Given the description of an element on the screen output the (x, y) to click on. 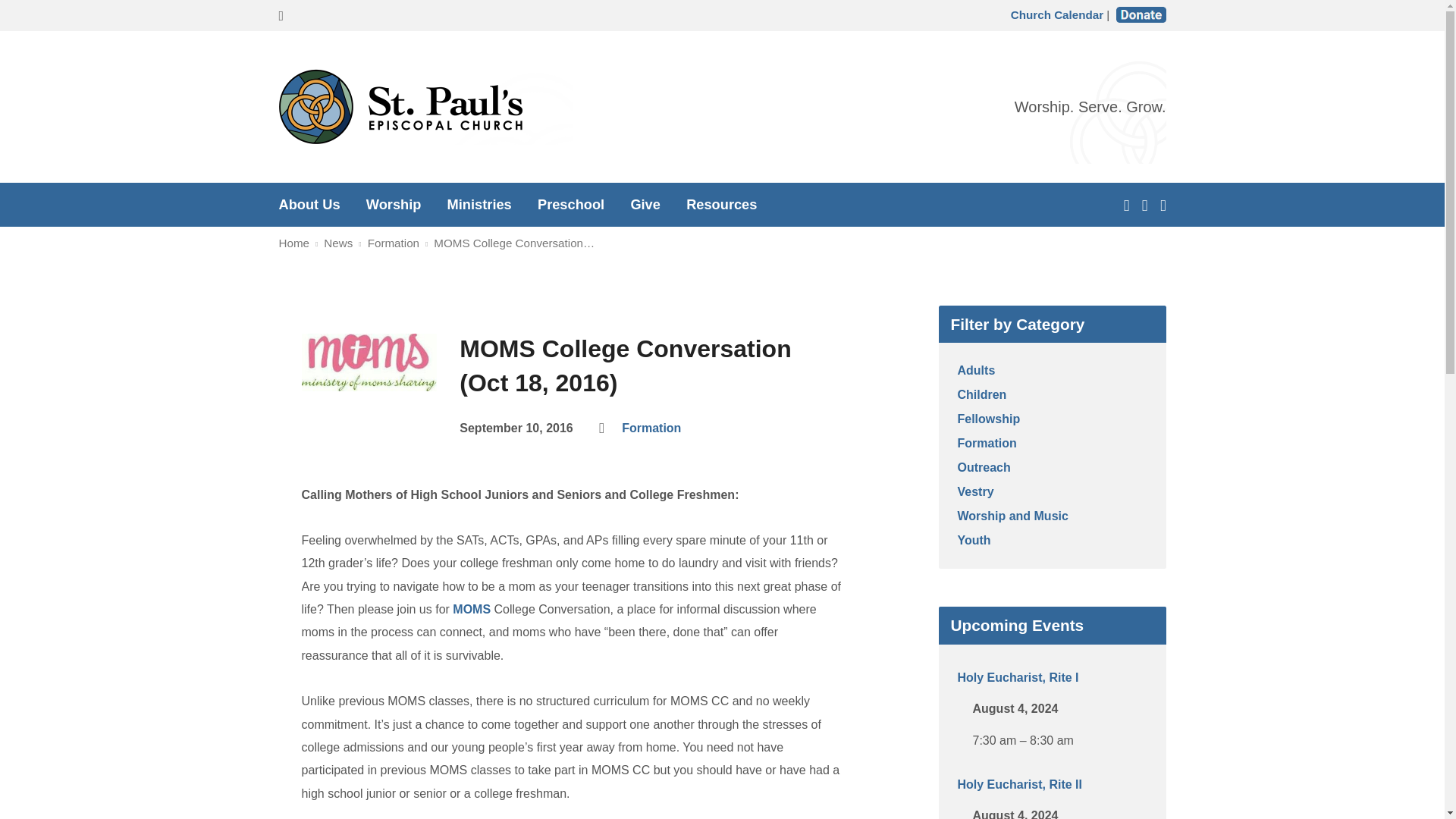
Resources (721, 204)
Church Calendar (1056, 14)
Donate Online through PayPal (1141, 14)
Ministries (479, 204)
Worship (394, 204)
Holy Eucharist, Rite II (1018, 784)
Give (645, 204)
Preschool (570, 204)
Home (294, 242)
Holy Eucharist, Rite I (1017, 676)
